Given the description of an element on the screen output the (x, y) to click on. 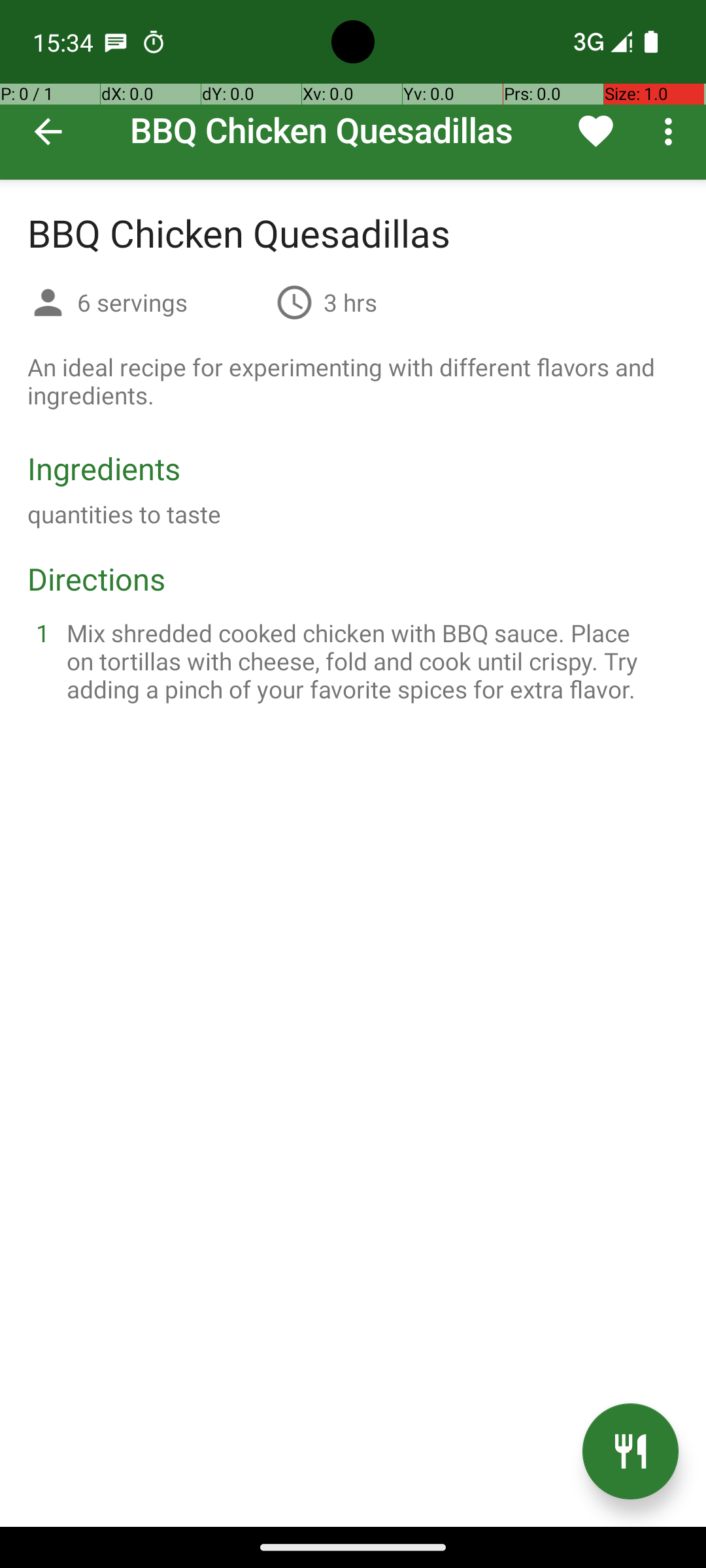
Mix shredded cooked chicken with BBQ sauce. Place on tortillas with cheese, fold and cook until crispy. Try adding a pinch of your favorite spices for extra flavor. Element type: android.widget.TextView (368, 660)
